Given the description of an element on the screen output the (x, y) to click on. 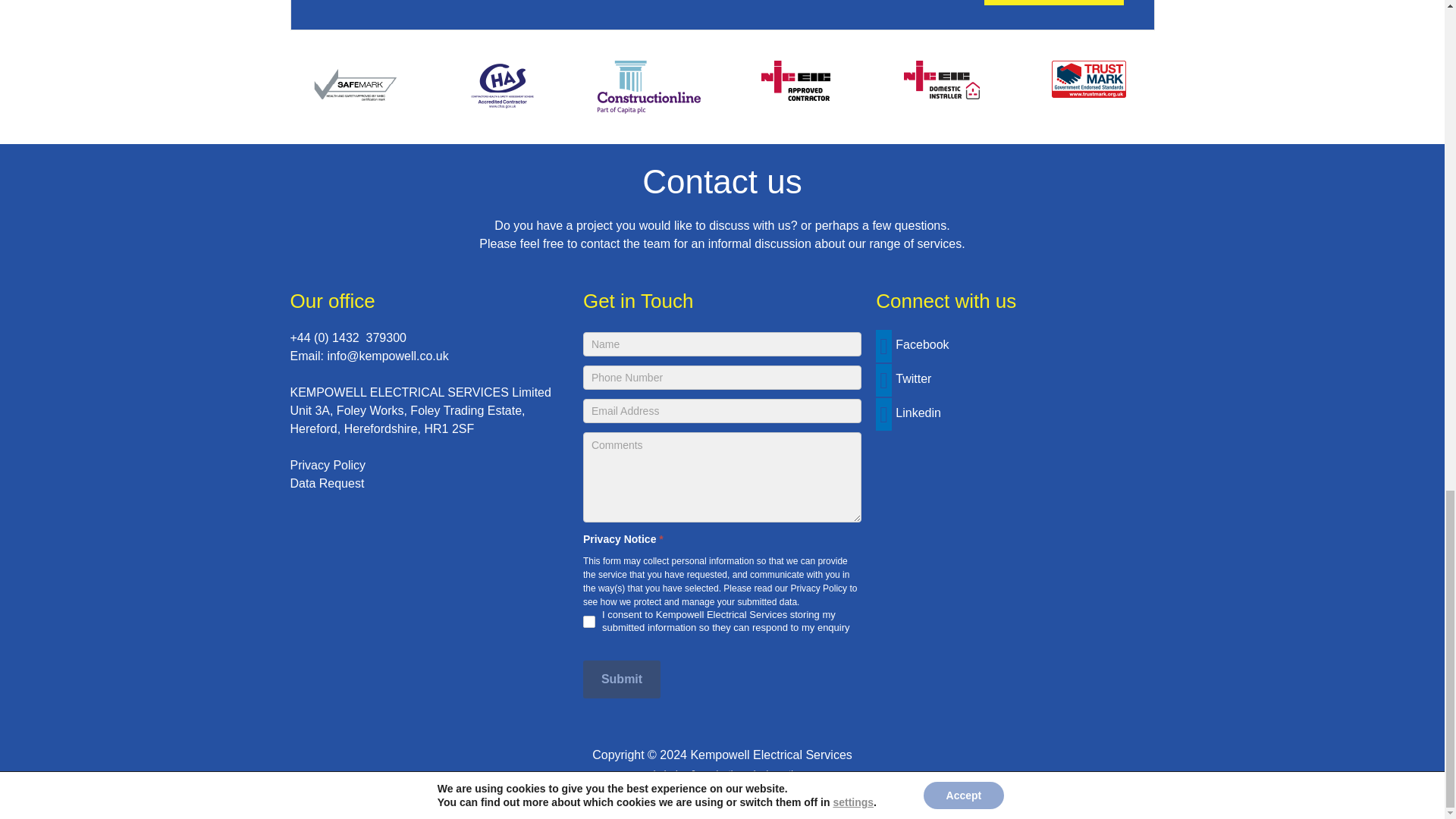
Submit (622, 679)
Contact us now (1054, 2)
Privacy Policy (327, 464)
Data Request (326, 482)
Submit (622, 679)
Privacy Policy (818, 588)
Kempowell Electrical Services (770, 754)
Twitter (903, 378)
Facebook (912, 344)
